Given the description of an element on the screen output the (x, y) to click on. 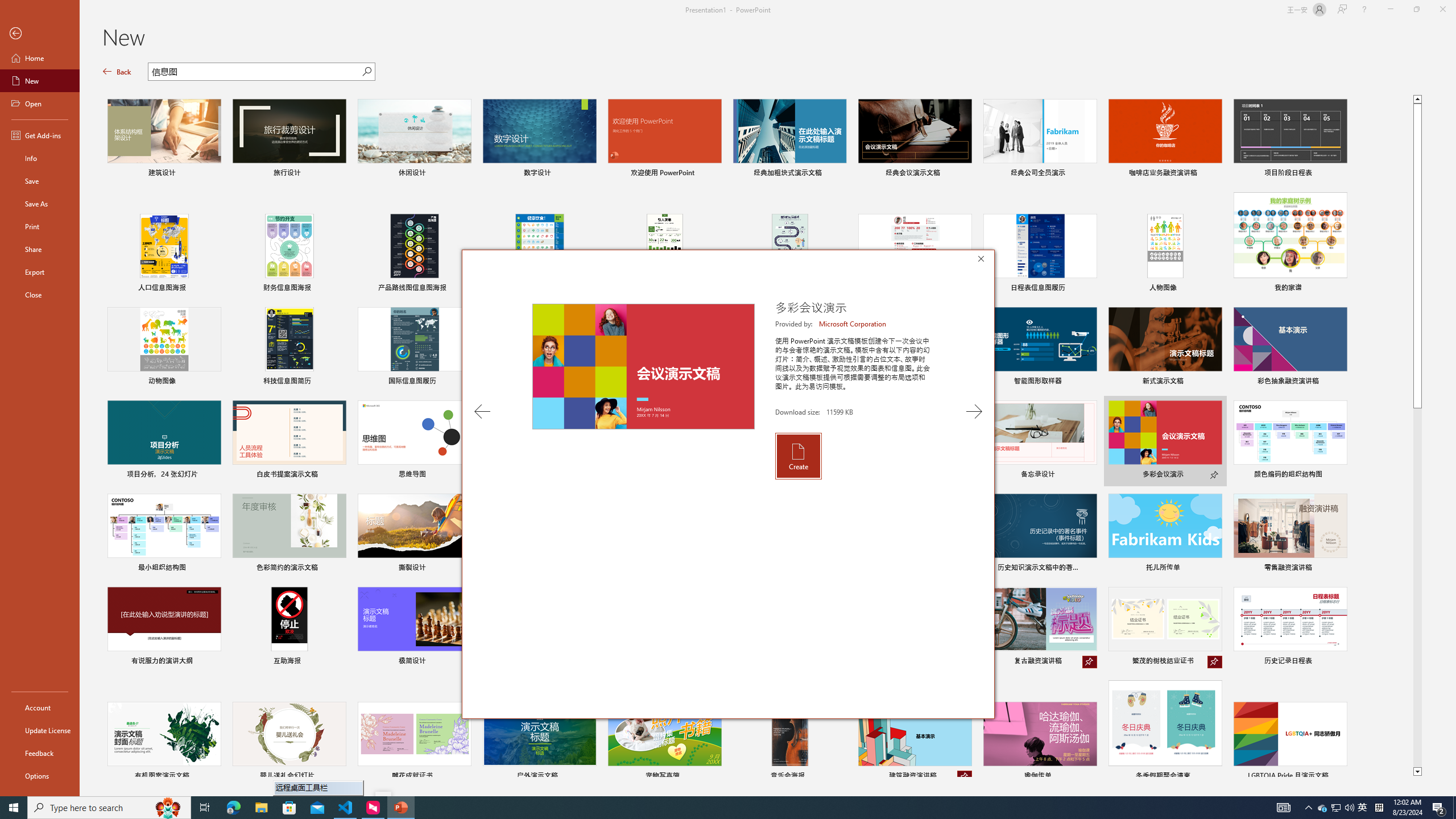
Action Center, 2 new notifications (1439, 807)
Pin to list (1339, 776)
Feedback (1362, 807)
AutomationID: 4105 (1335, 807)
Back (40, 753)
Line up (1283, 807)
Microsoft Edge (117, 71)
